Given the description of an element on the screen output the (x, y) to click on. 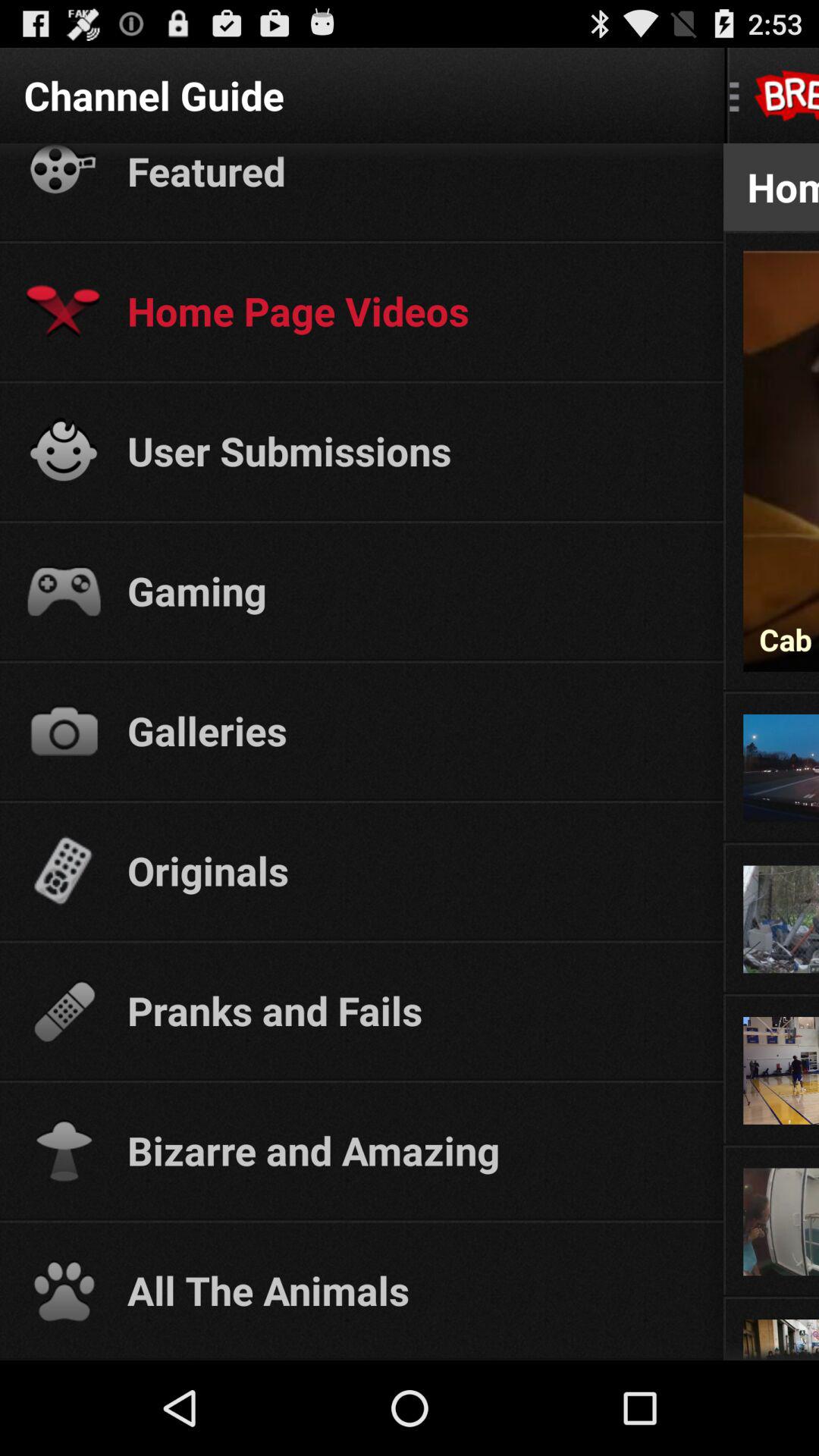
choose the bizarre and amazing icon (411, 1149)
